Given the description of an element on the screen output the (x, y) to click on. 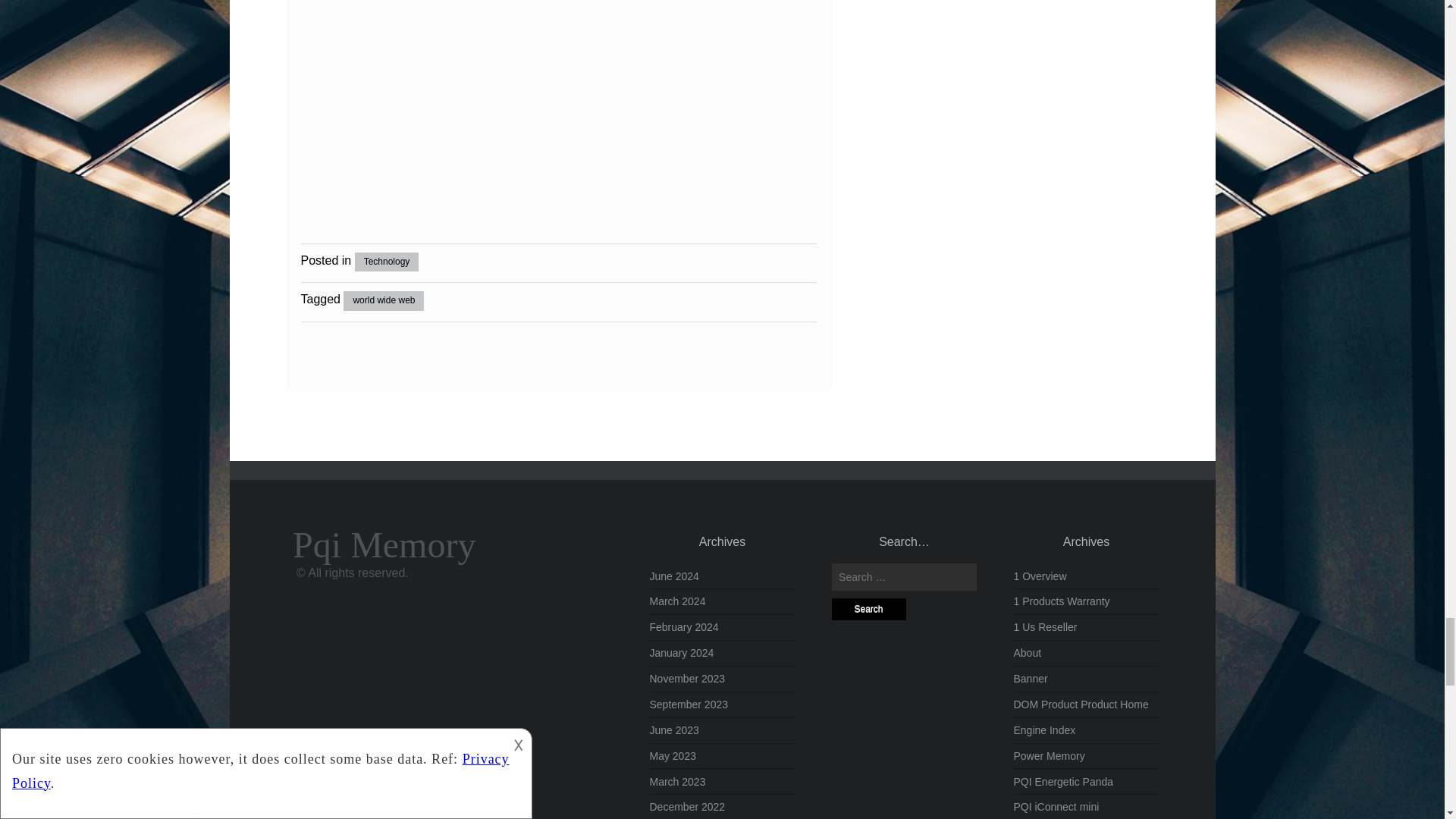
Search for: (903, 576)
Search (868, 608)
Search (868, 608)
